Given the description of an element on the screen output the (x, y) to click on. 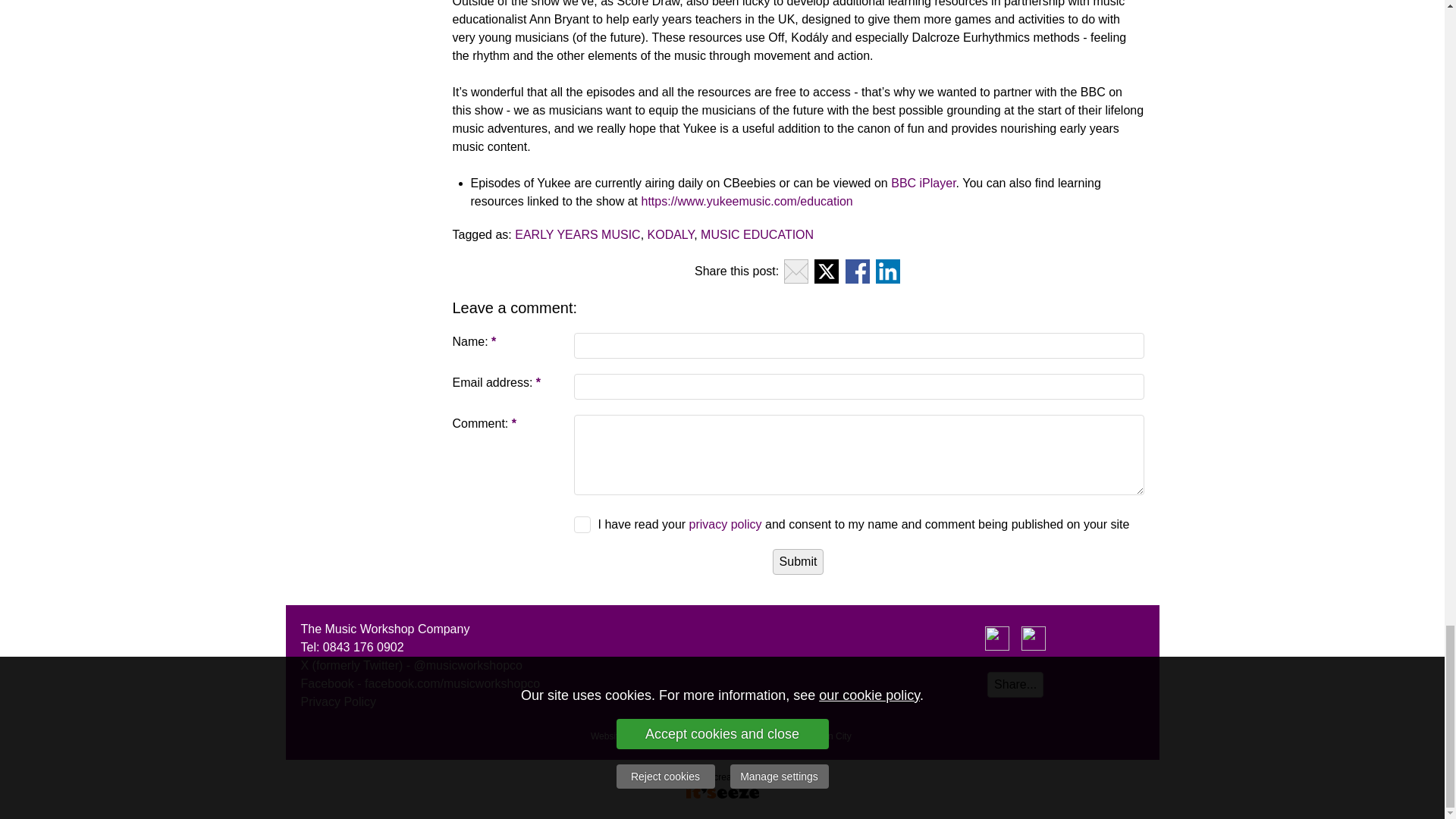
BBC iPlayer (923, 182)
